Given the description of an element on the screen output the (x, y) to click on. 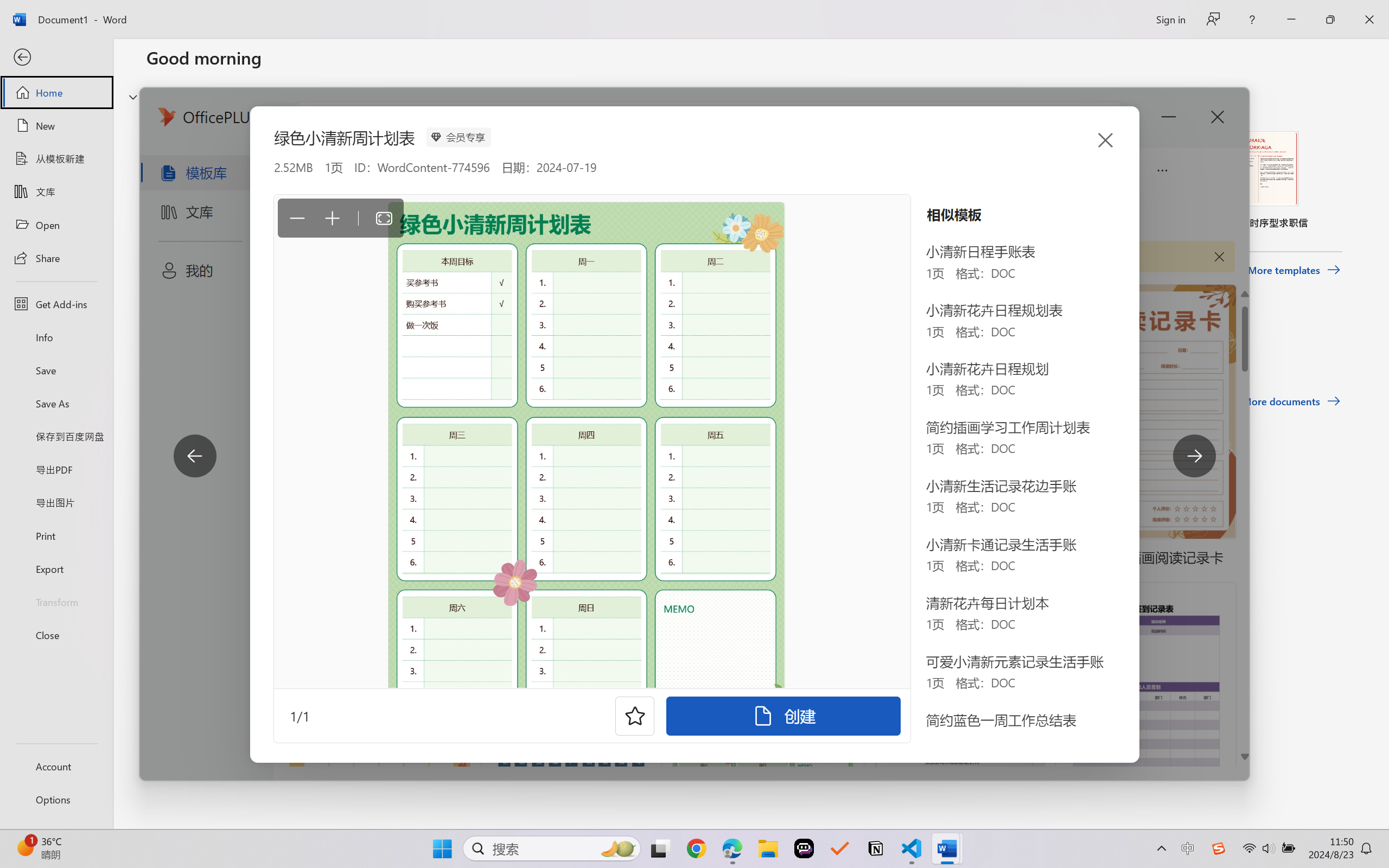
Hide or show region (133, 96)
Print (56, 535)
New (56, 125)
